Given the description of an element on the screen output the (x, y) to click on. 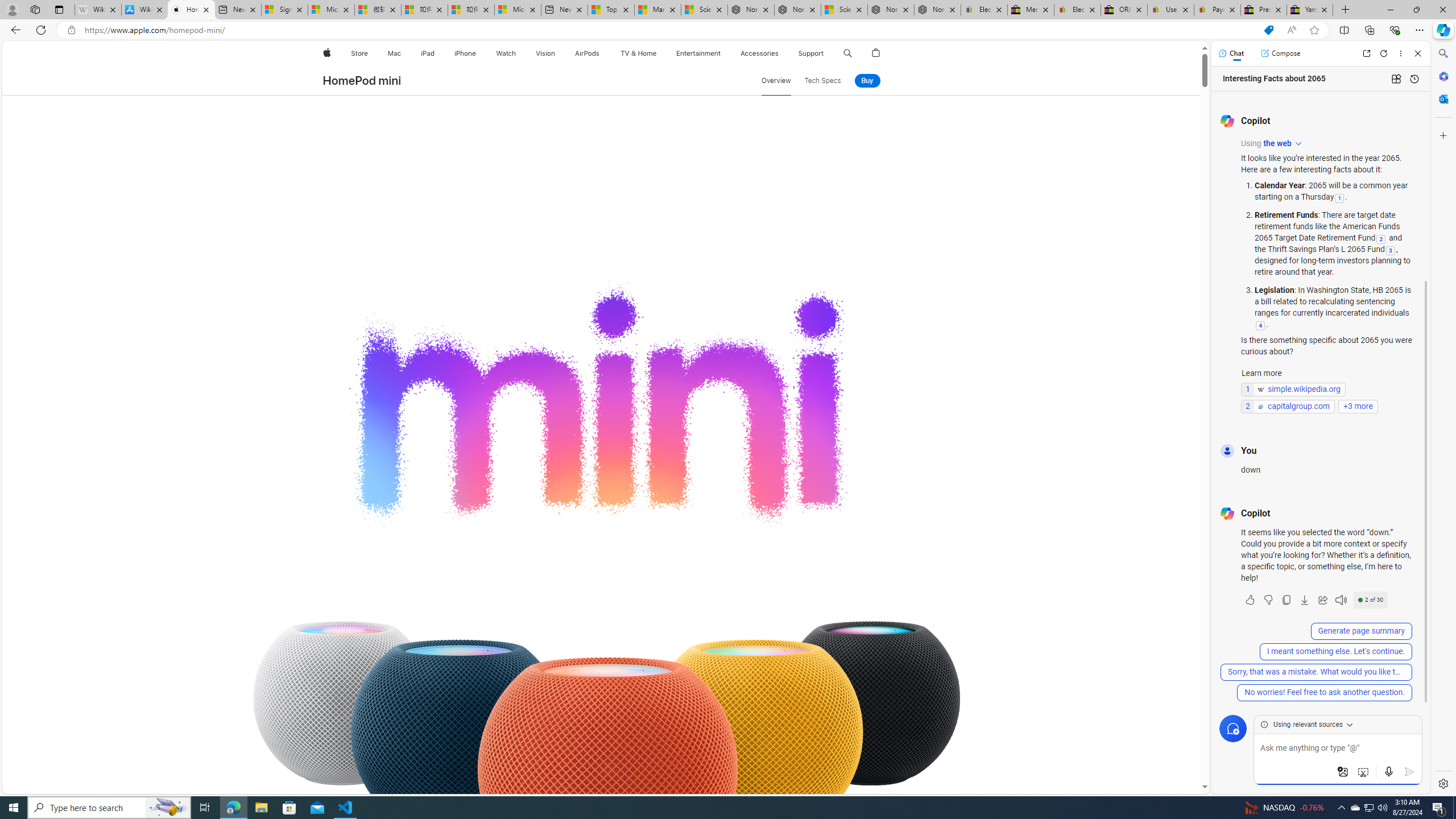
Class: globalnav-submenu-trigger-item (825, 53)
AutomationID: globalnav-bag (876, 53)
Shopping Bag (876, 53)
Tech Specs (822, 80)
iPad menu (435, 53)
TV & Home (637, 53)
Watch menu (518, 53)
